Given the description of an element on the screen output the (x, y) to click on. 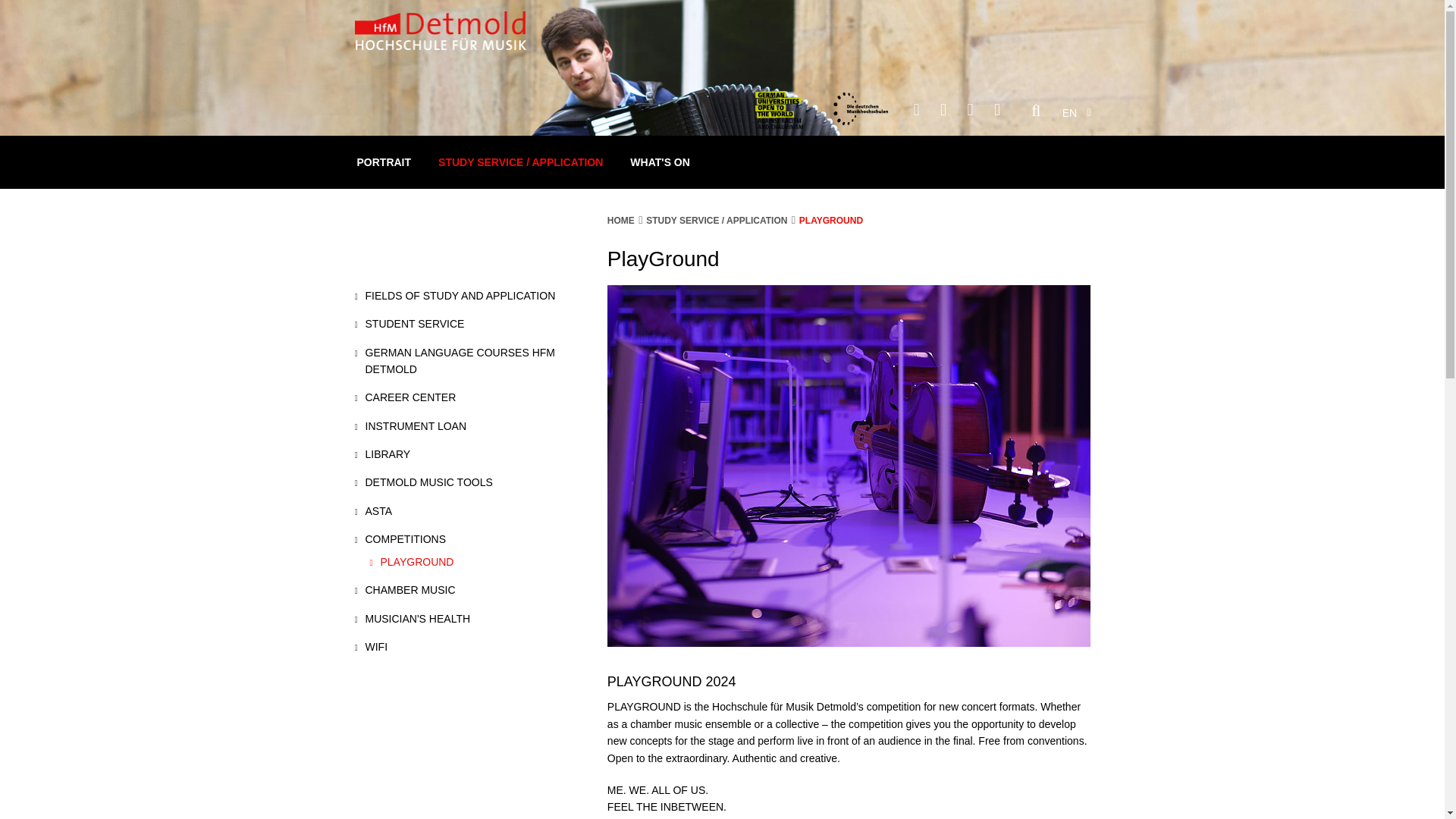
Career Center (406, 397)
Musician's Health (412, 618)
PlayGround (410, 561)
PORTRAIT (383, 162)
WHAT'S ON (659, 162)
Fields of study and Application (455, 295)
Chamber music (405, 589)
PlayGround (831, 220)
AStA (374, 510)
Die deutschen Musikhochschulen (860, 108)
